Given the description of an element on the screen output the (x, y) to click on. 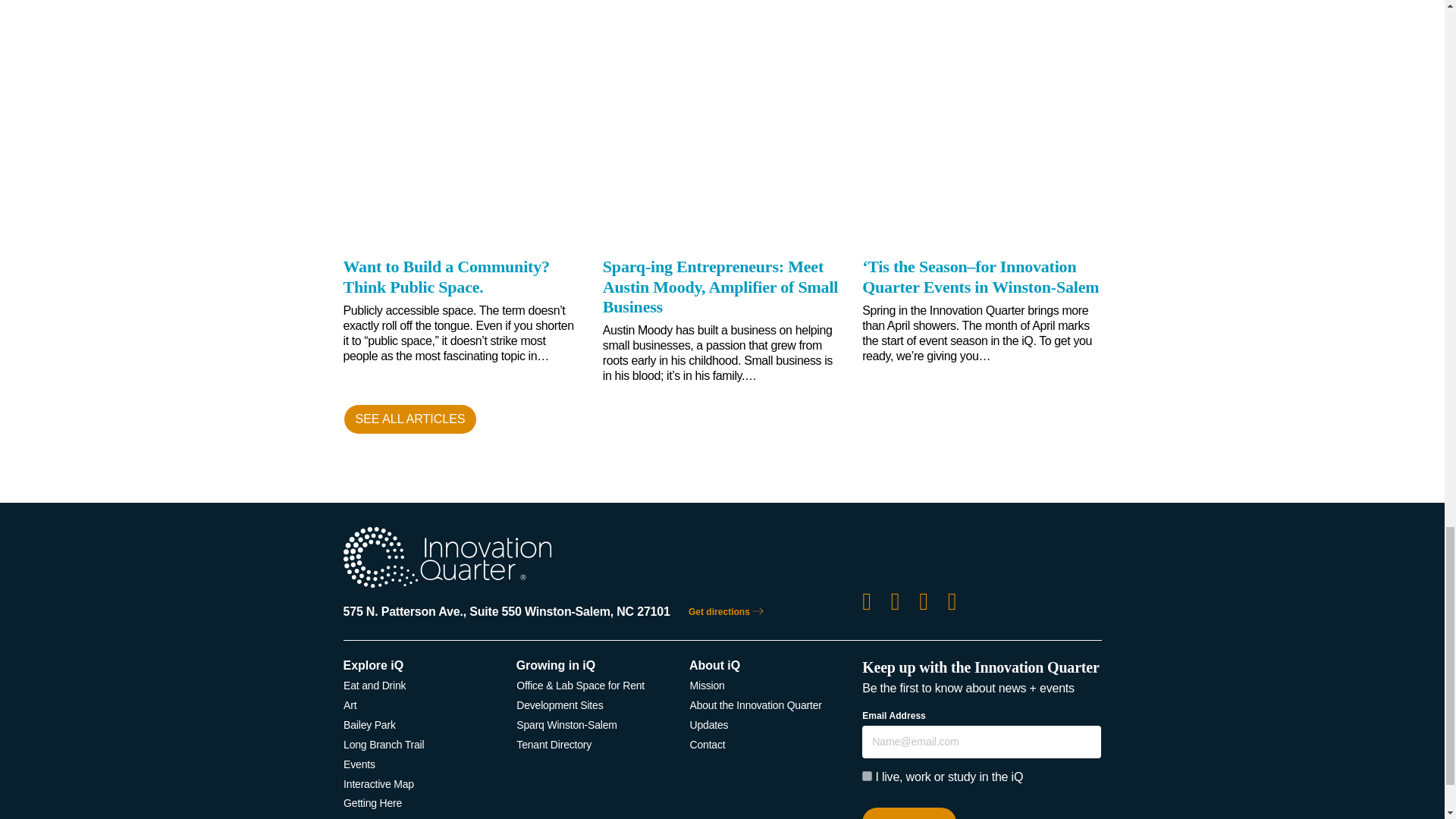
Subscribe (908, 813)
1 (866, 776)
